Given the description of an element on the screen output the (x, y) to click on. 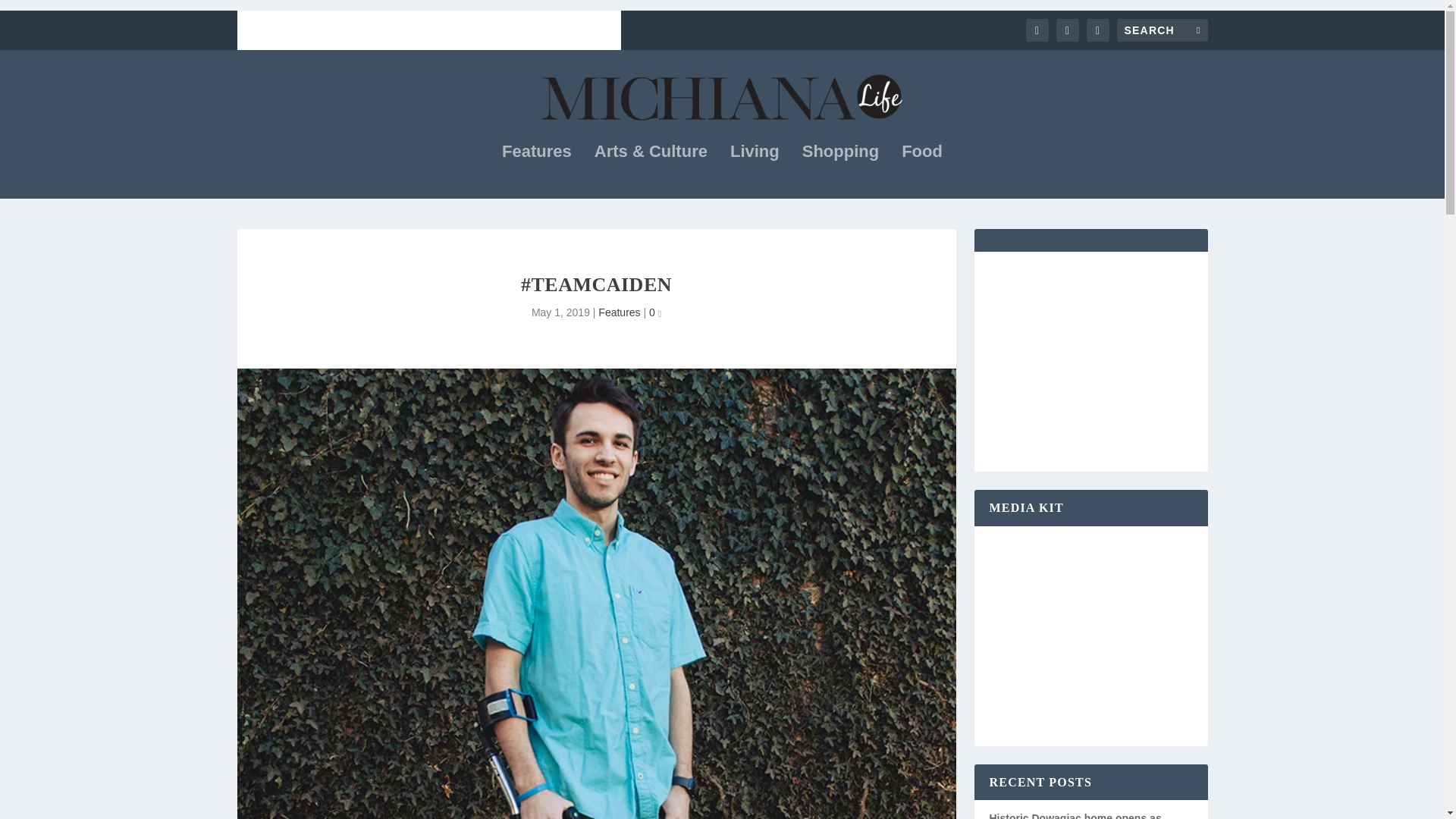
Features (619, 312)
About Michiana Life (552, 29)
Shopping (840, 172)
Search for: (1161, 29)
Subscribe (262, 29)
Living (754, 172)
0 (655, 312)
Michiana Life Pick Up Locations (394, 29)
Features (537, 172)
